Given the description of an element on the screen output the (x, y) to click on. 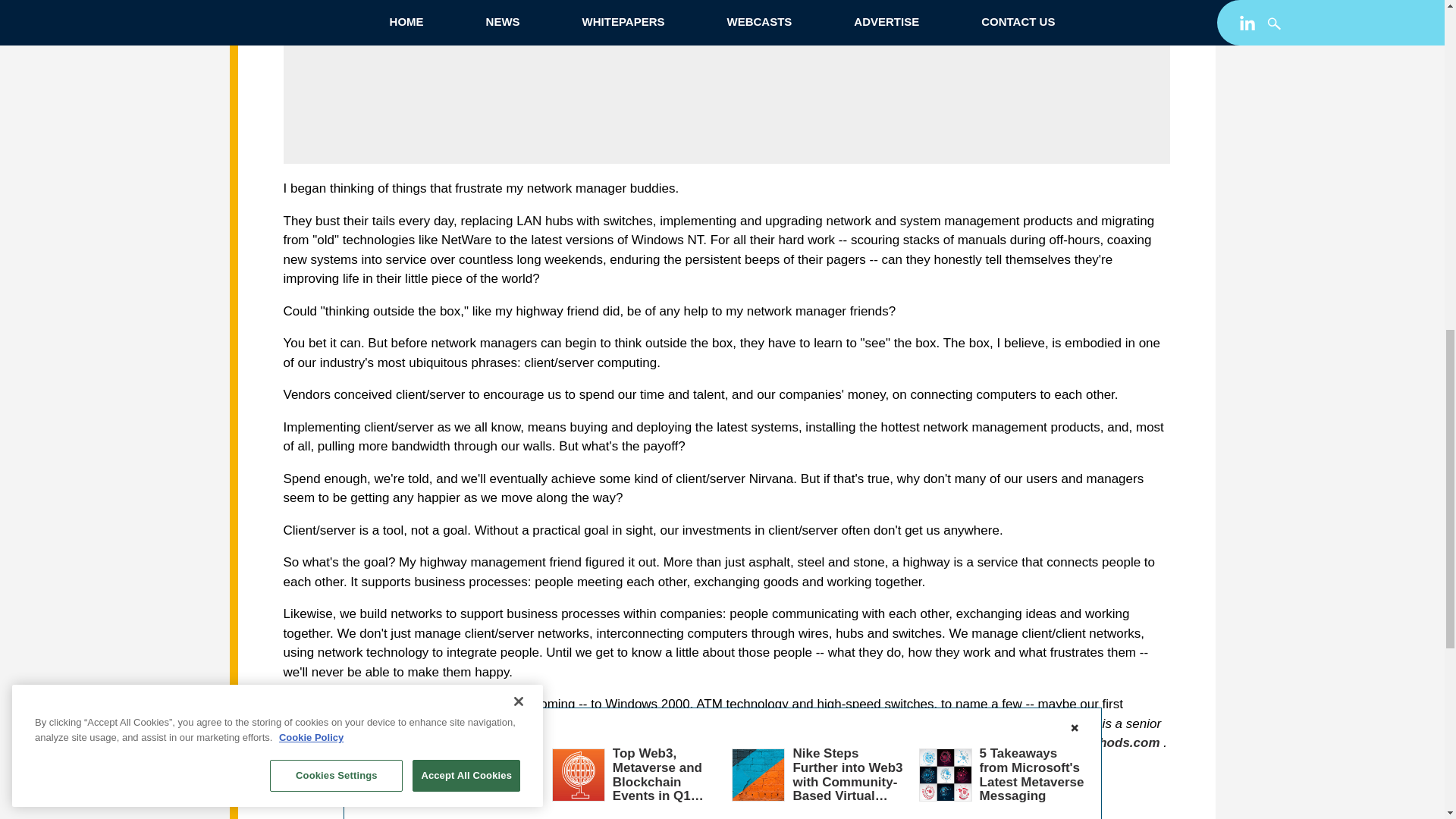
3rd party ad content (726, 70)
